Given the description of an element on the screen output the (x, y) to click on. 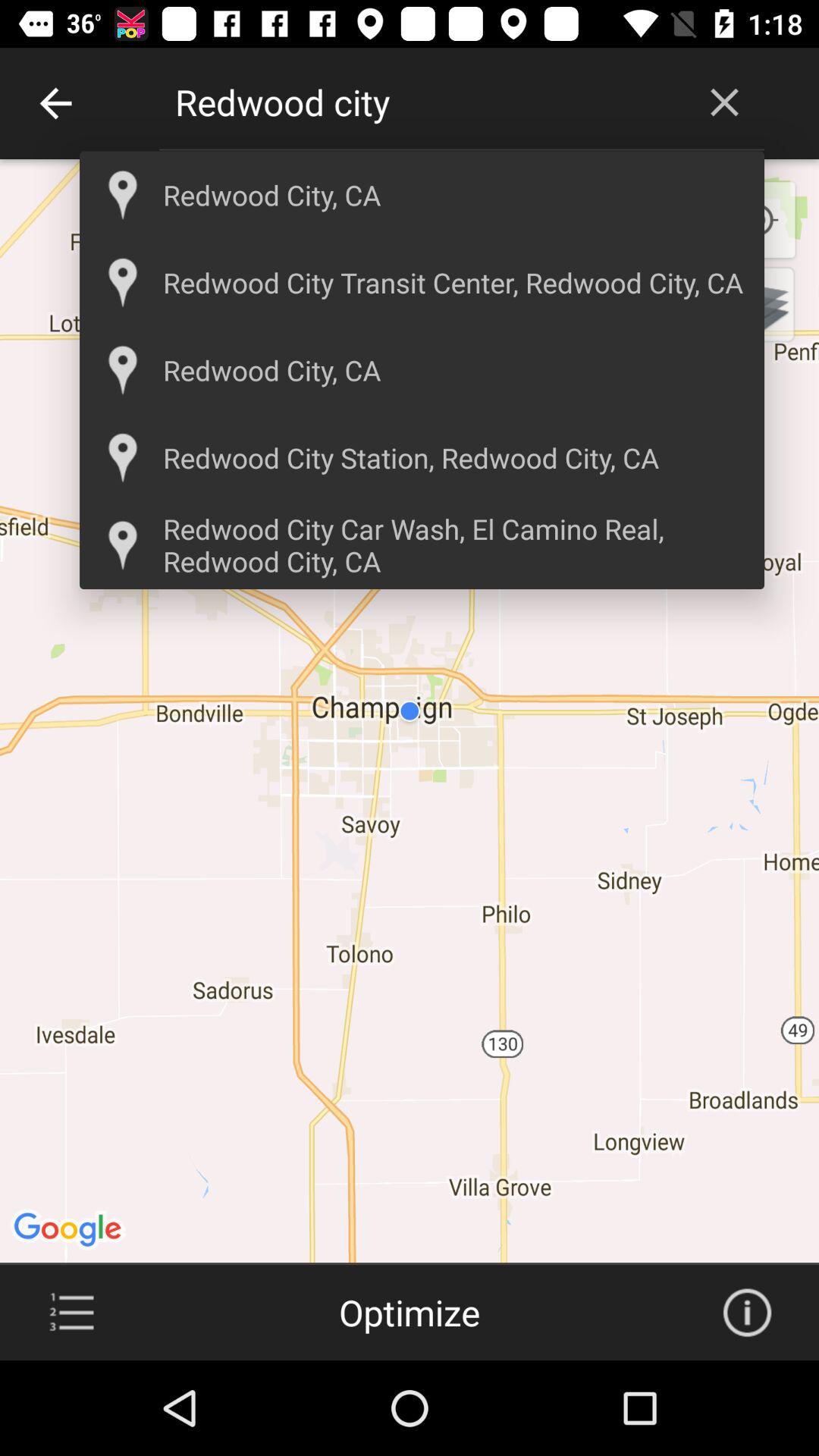
add layers option (757, 304)
